Given the description of an element on the screen output the (x, y) to click on. 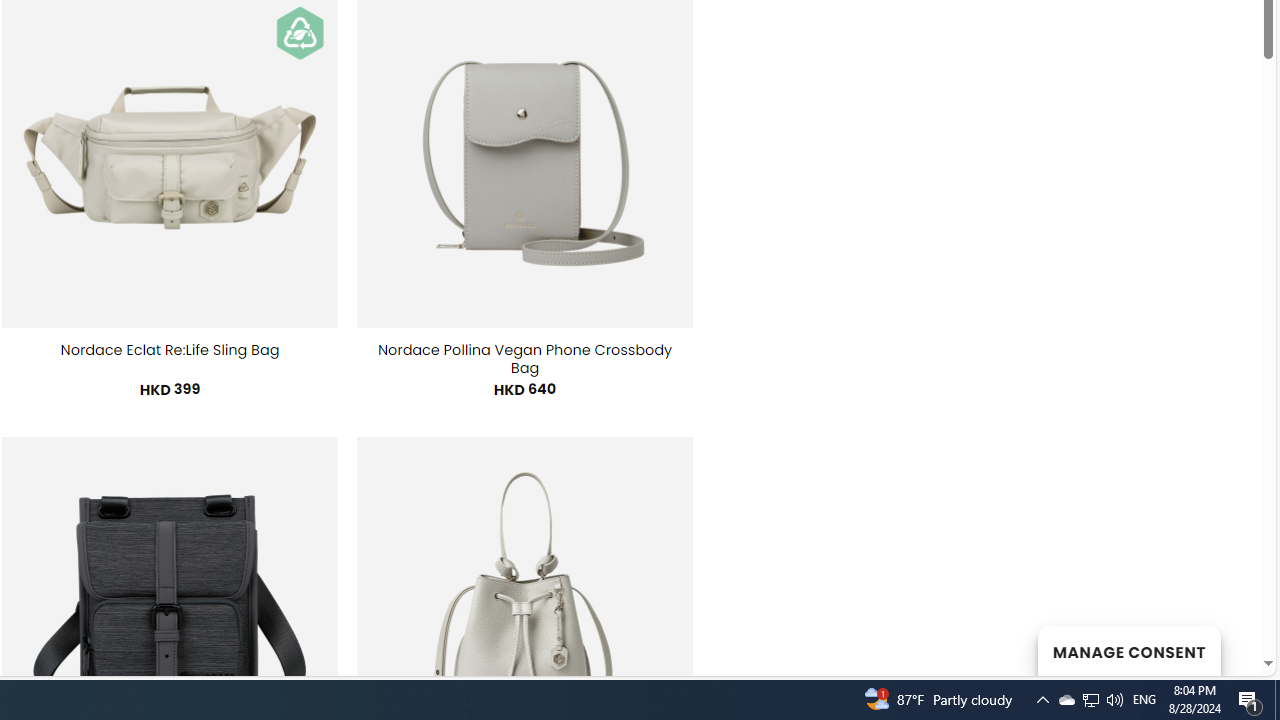
MANAGE CONSENT (1128, 650)
Nordace Pollina Vegan Phone Crossbody Bag (525, 358)
Nordace Eclat Re:Life Sling Bag (170, 350)
